Given the description of an element on the screen output the (x, y) to click on. 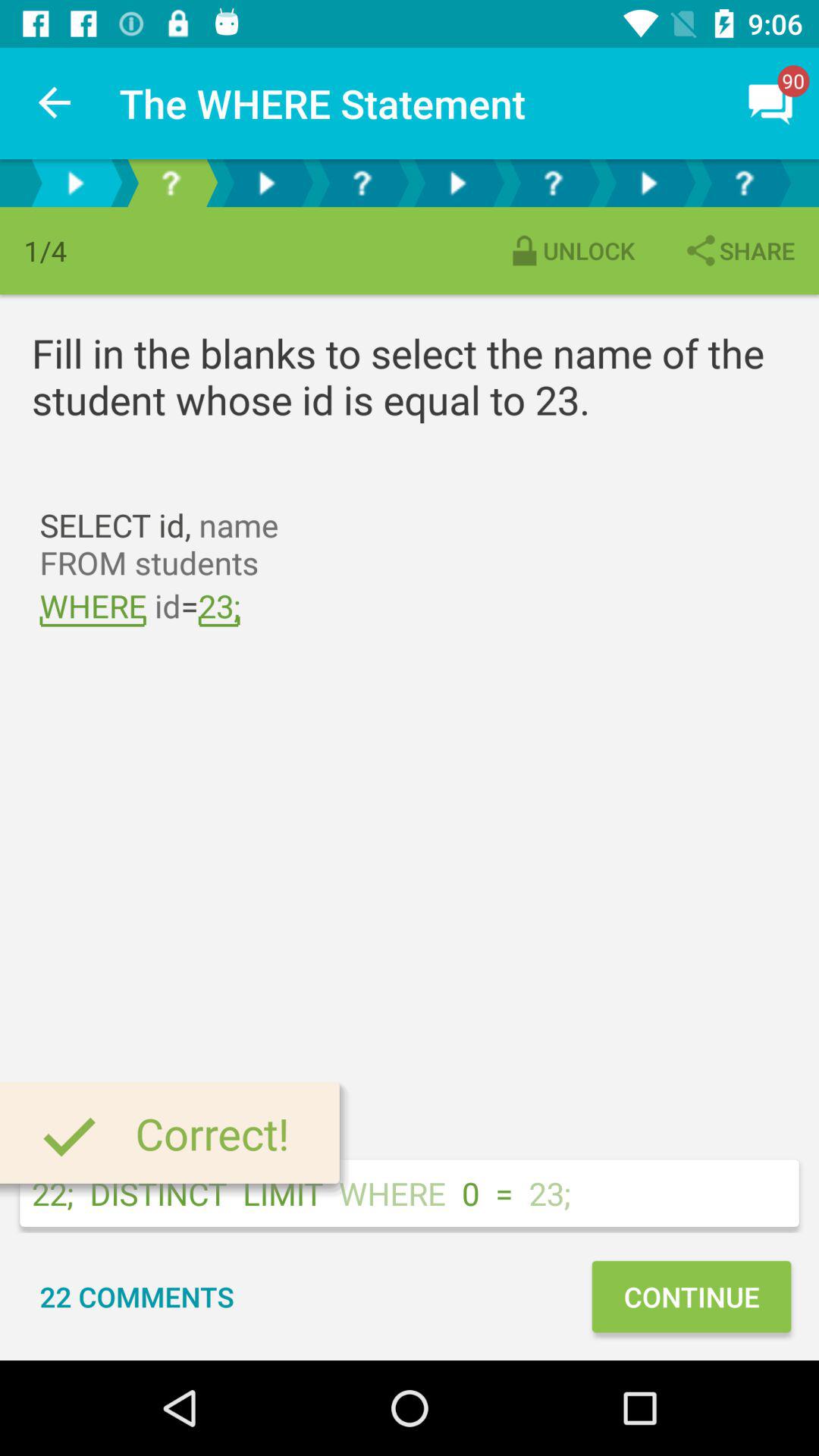
button to select the phase ahead (743, 183)
